Given the description of an element on the screen output the (x, y) to click on. 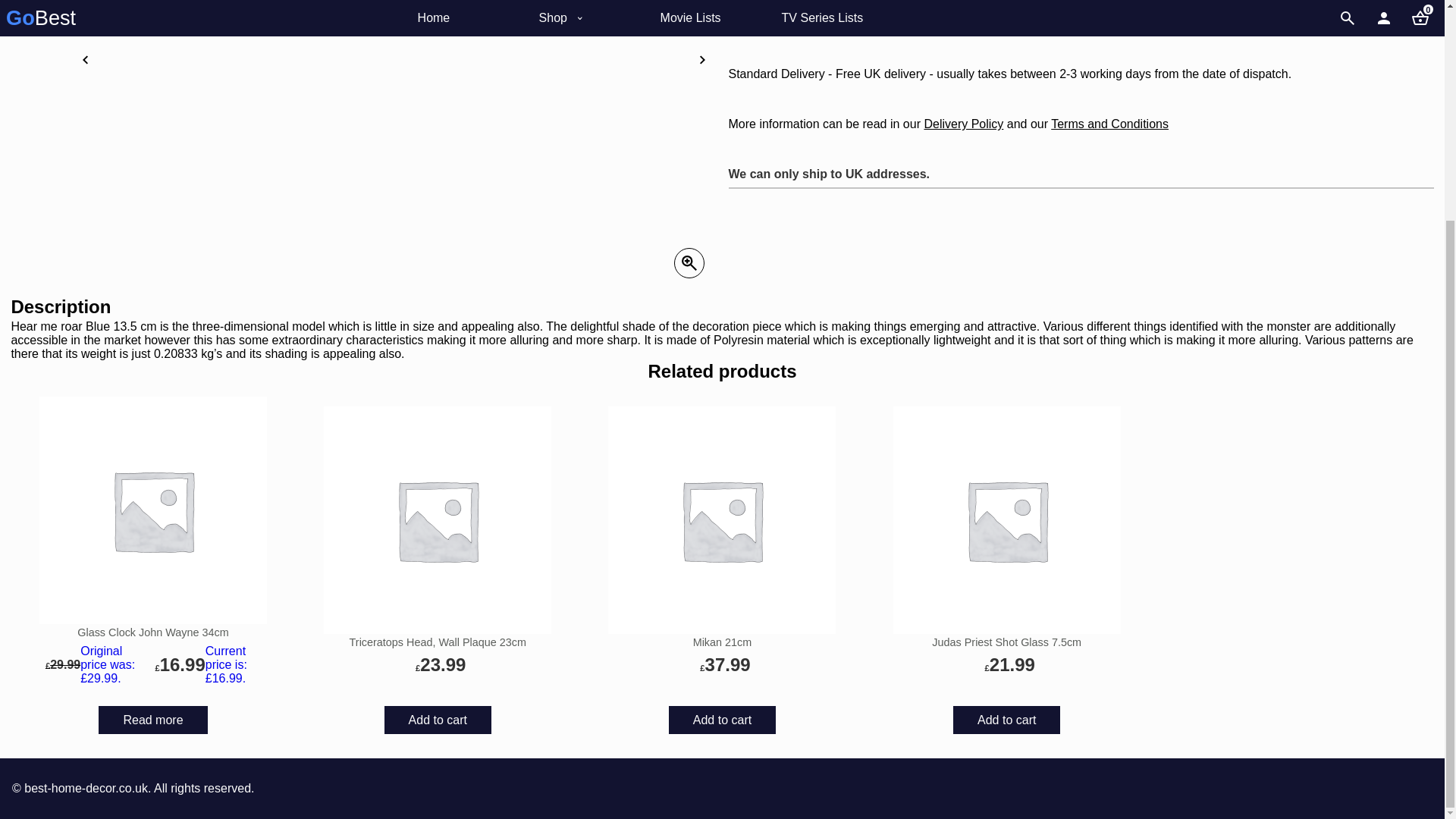
Terms and Conditions (1110, 123)
Delivery Policy (963, 123)
Add to cart (722, 719)
Read more (152, 719)
Add to cart (438, 719)
Add to cart (1006, 719)
